Given the description of an element on the screen output the (x, y) to click on. 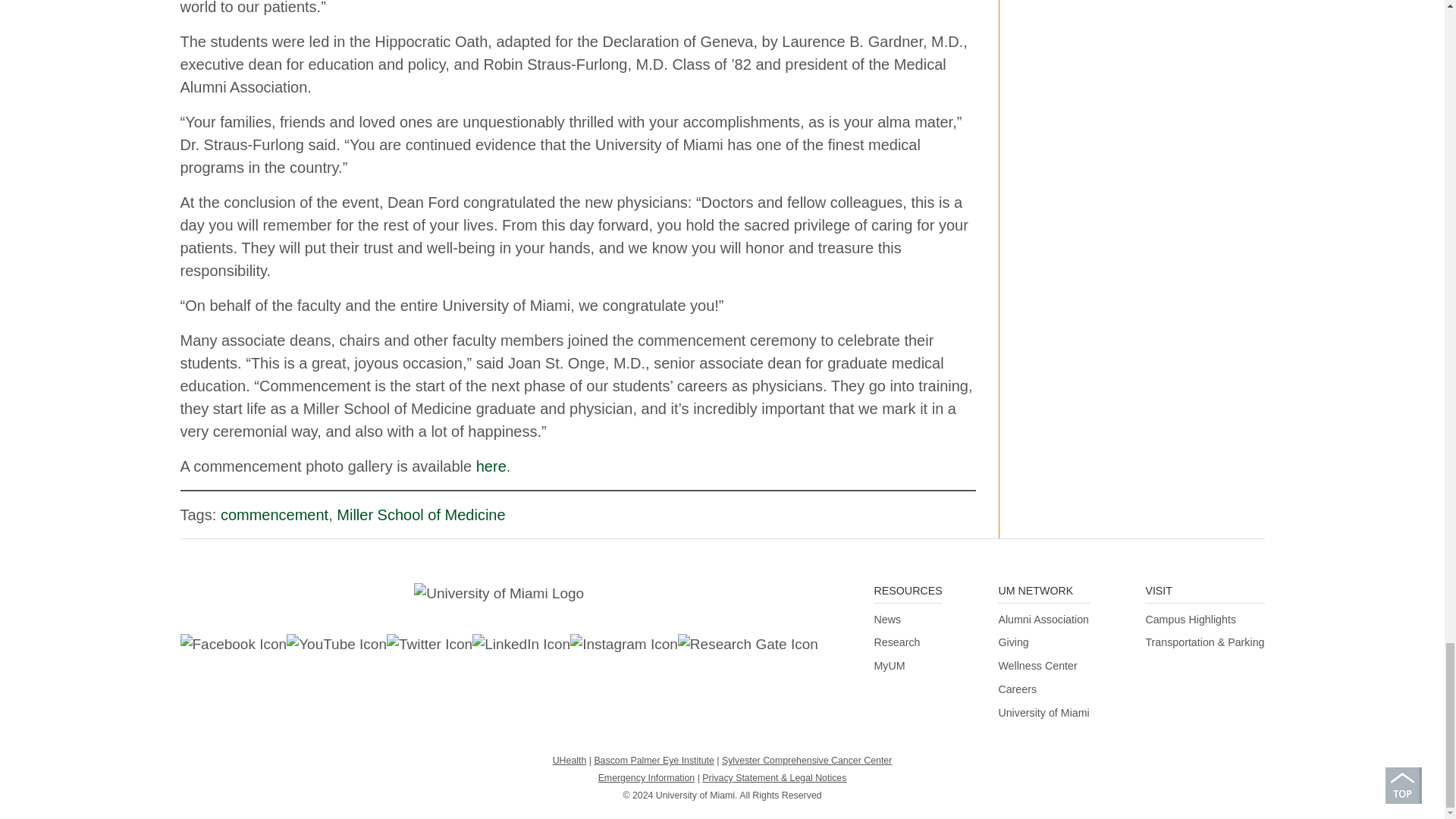
Logo for University Of Miami (499, 593)
